Given the description of an element on the screen output the (x, y) to click on. 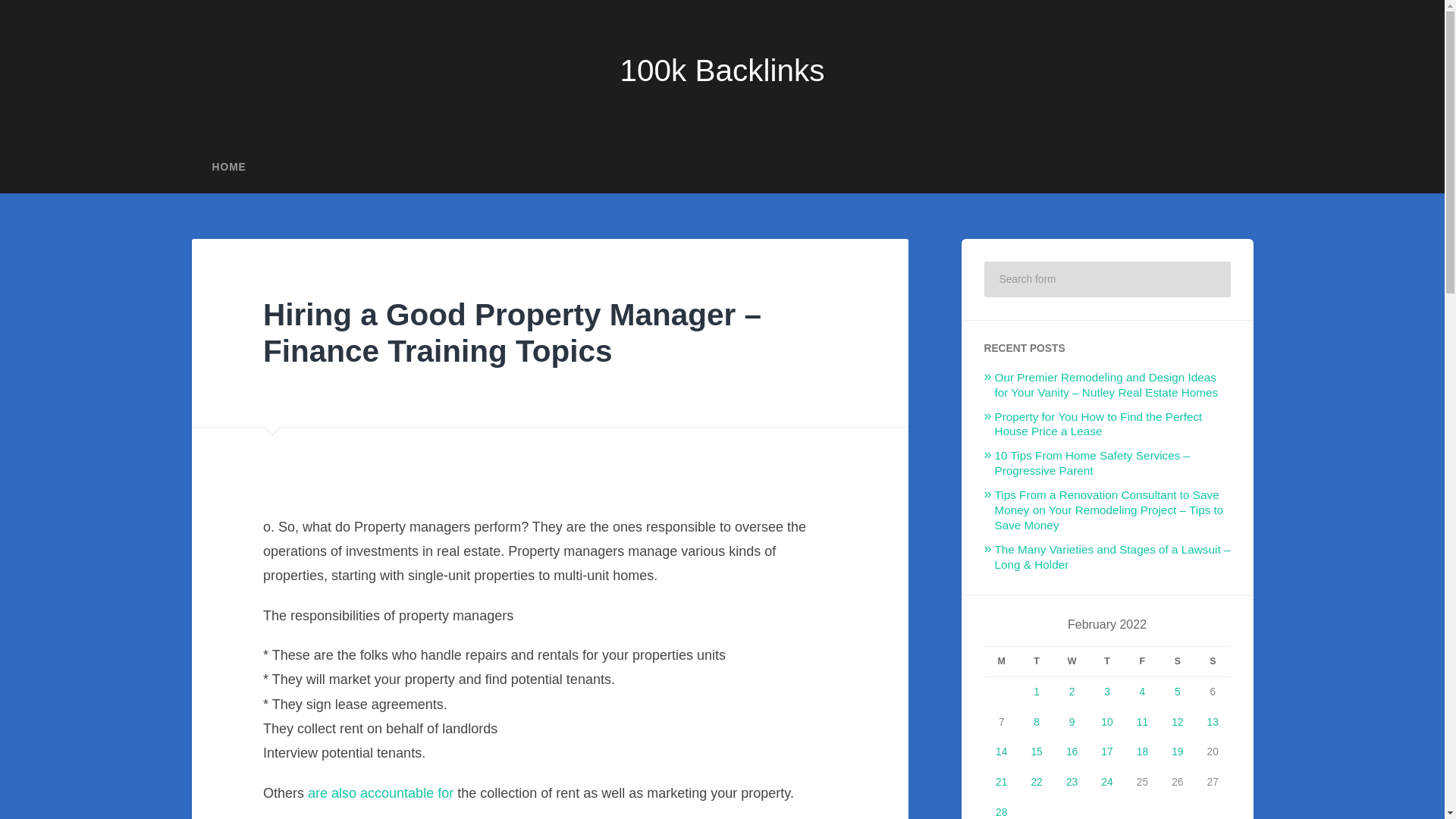
Wednesday (1071, 661)
11 (1142, 722)
Friday (1141, 661)
Monday (1001, 661)
are also accountable for (379, 792)
18 (1142, 751)
21 (1001, 781)
15 (1036, 751)
Search (1209, 278)
Property for You How to Find the Perfect House Price a Lease (1098, 424)
